Given the description of an element on the screen output the (x, y) to click on. 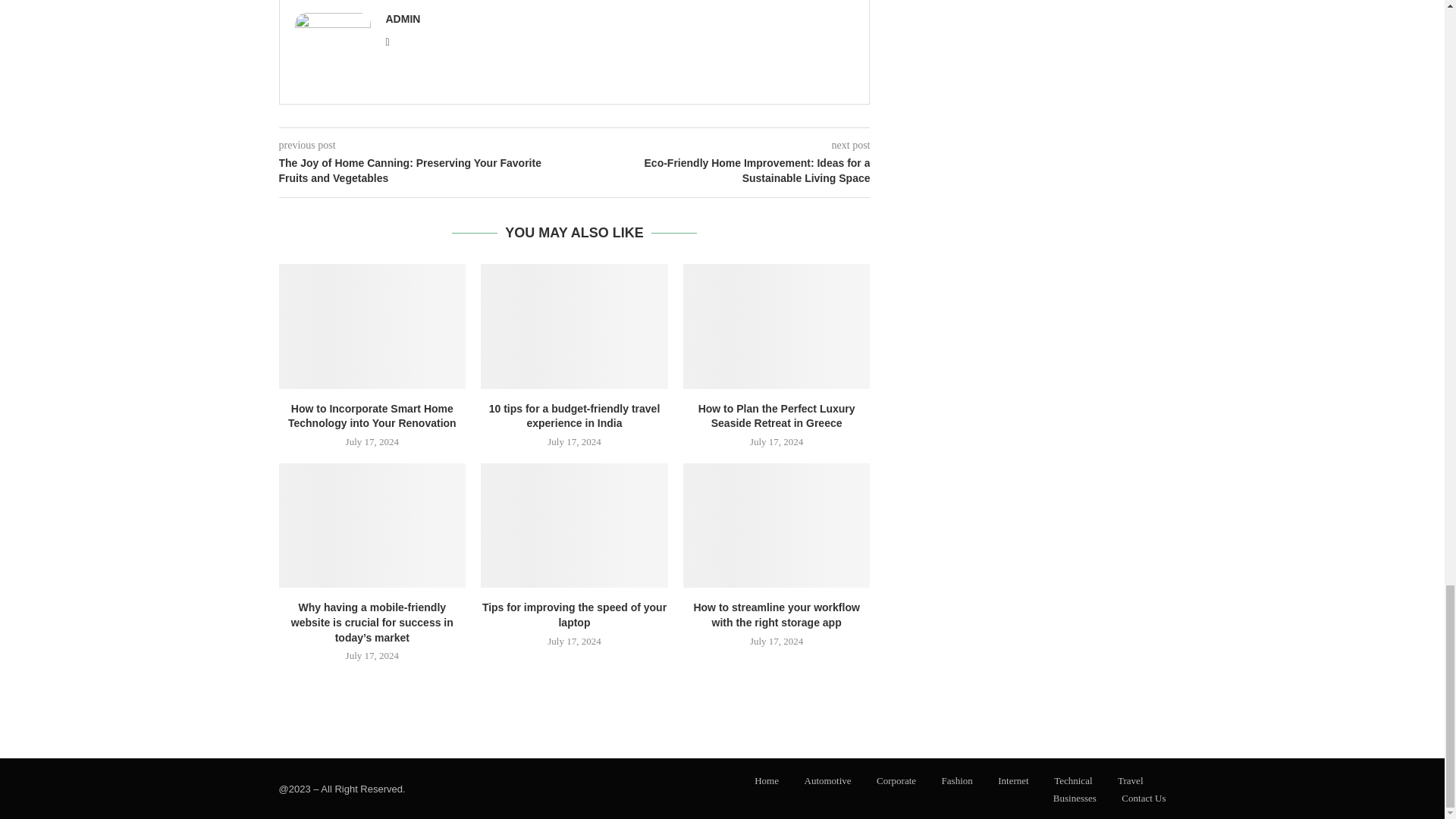
How to Plan the Perfect Luxury Seaside Retreat in Greece (776, 325)
How to streamline your workflow with the right storage app (776, 525)
10 tips for a budget-friendly travel experience in India (574, 325)
Tips for improving the speed of your laptop (574, 525)
Author admin (402, 19)
